Given the description of an element on the screen output the (x, y) to click on. 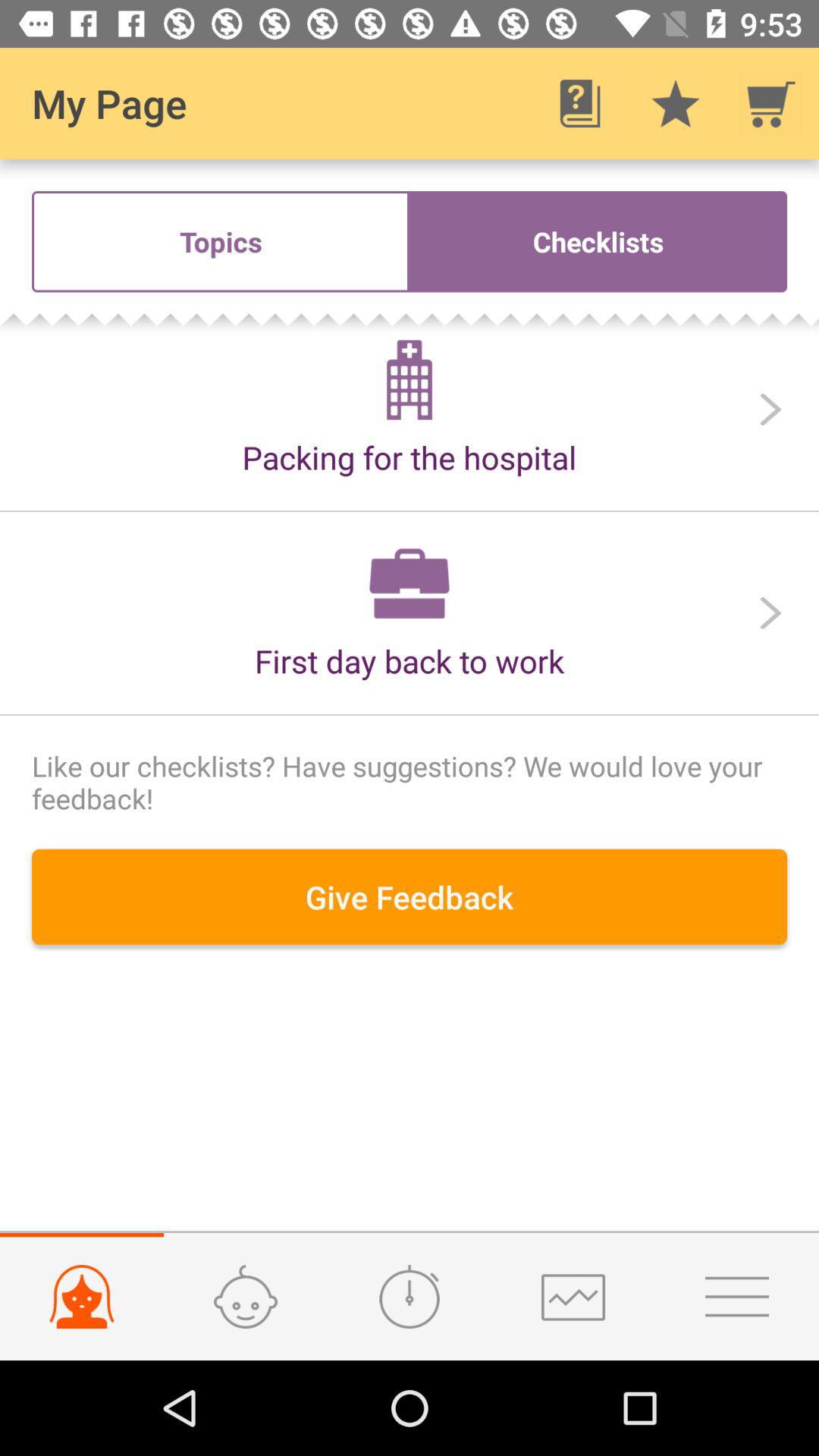
jump to give feedback (409, 896)
